Given the description of an element on the screen output the (x, y) to click on. 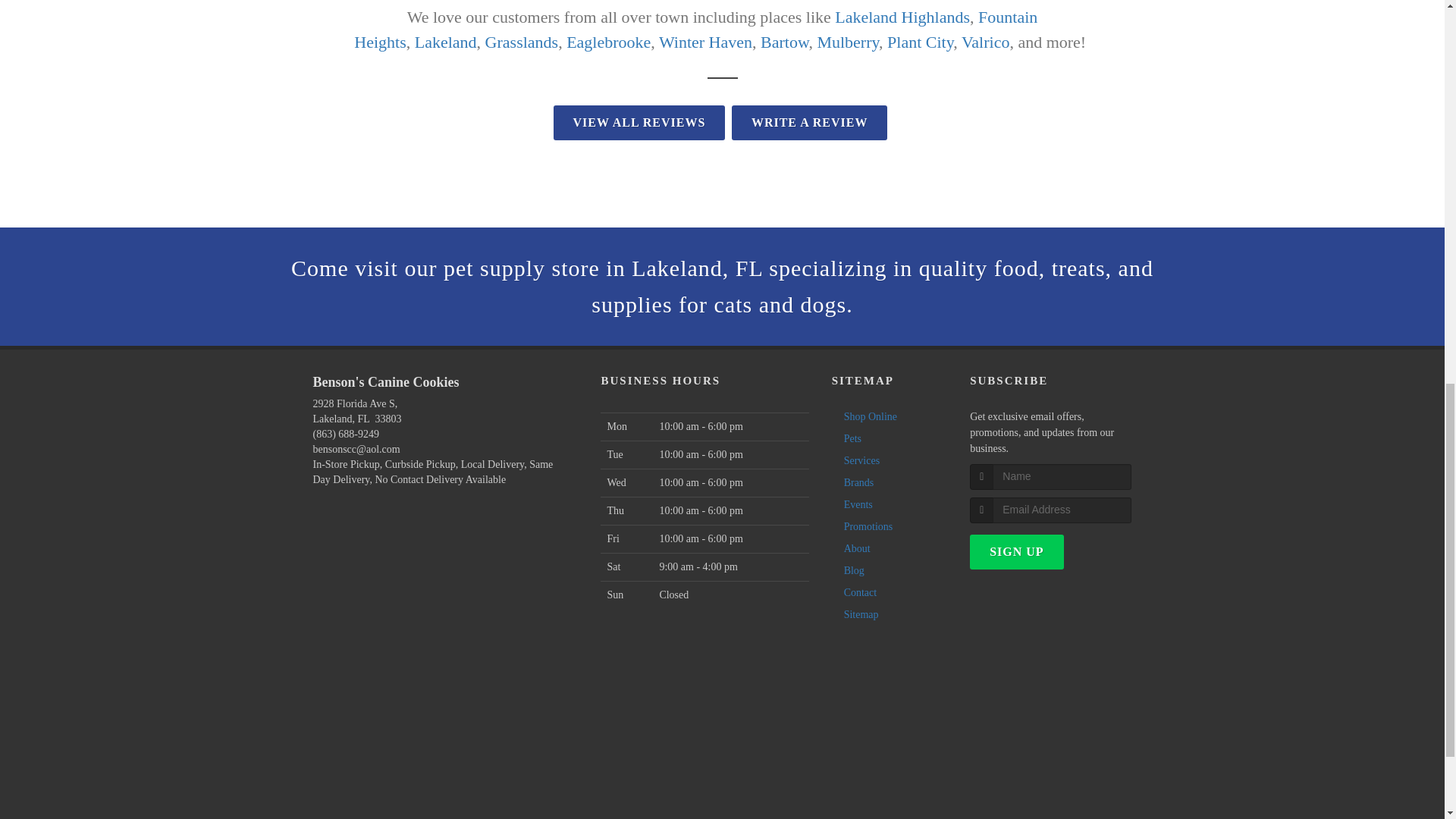
Get Directions From Fountain Heights (694, 29)
Winter Haven (705, 41)
Grasslands (521, 41)
Bartow (784, 41)
Eaglebrooke (608, 41)
Lakeland (445, 41)
Fountain Heights (694, 29)
Get Directions From Lakeland Highlands (901, 16)
Lakeland Highlands (901, 16)
